Given the description of an element on the screen output the (x, y) to click on. 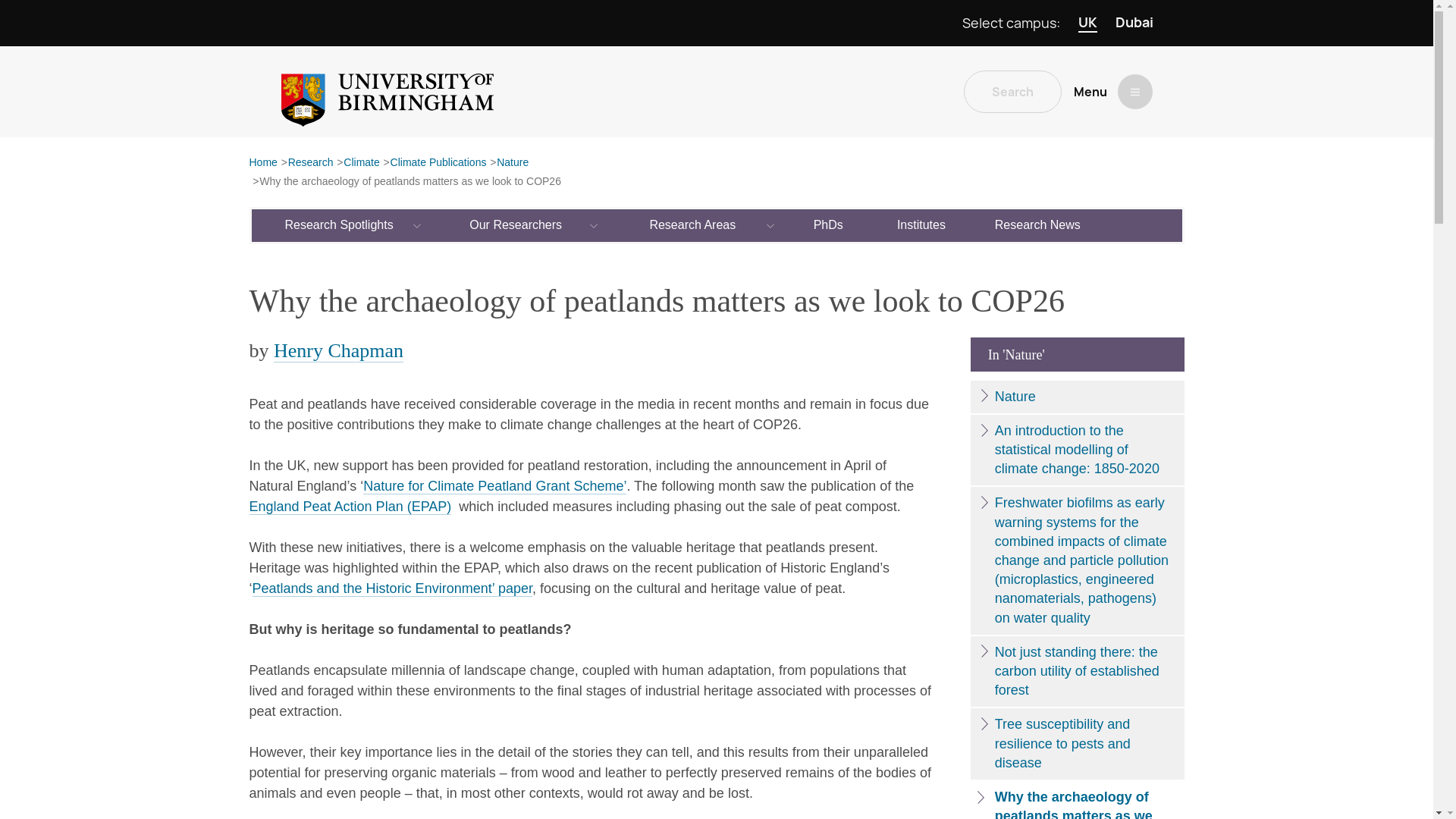
Our Researchers (516, 224)
Climate (360, 163)
Home (262, 163)
Research Spotlights (339, 224)
Climate Publications (438, 163)
Research Areas (693, 224)
UK (1087, 23)
Search (1012, 91)
Research (310, 163)
Dubai (1134, 23)
Why the archaeology of peatlands matters as we look to COP26 (409, 182)
Nature (512, 163)
